Given the description of an element on the screen output the (x, y) to click on. 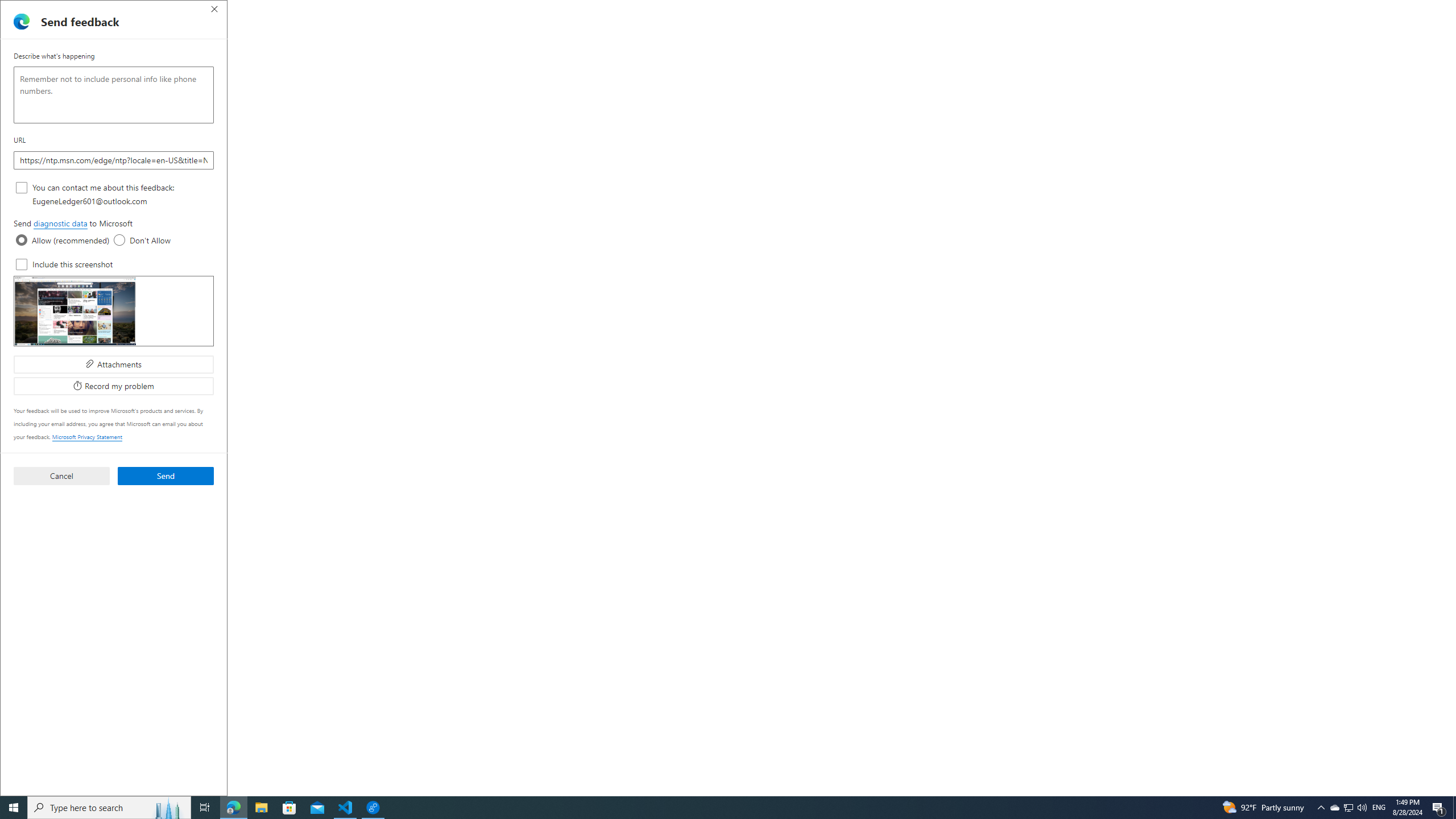
Cookies and similar technologies (368, 780)
Microsoft account | Privacy (1261, 9)
Tab actions menu (58, 9)
Microsoft Start (1281, 9)
Search and browse (308, 643)
Gloom - YouTube (968, 9)
Consumer Health Data Privacy Policy (716, 311)
I Gained 20 Pounds of Muscle in 30 Days! | Watch (1302, 9)
U.S. State Data Privacy Notice (548, 311)
Privacy dashboard (447, 54)
Personal data we collect (395, 368)
Nordace - Nordace Siena Is Not An Ordinary Backpack (652, 9)
